Given the description of an element on the screen output the (x, y) to click on. 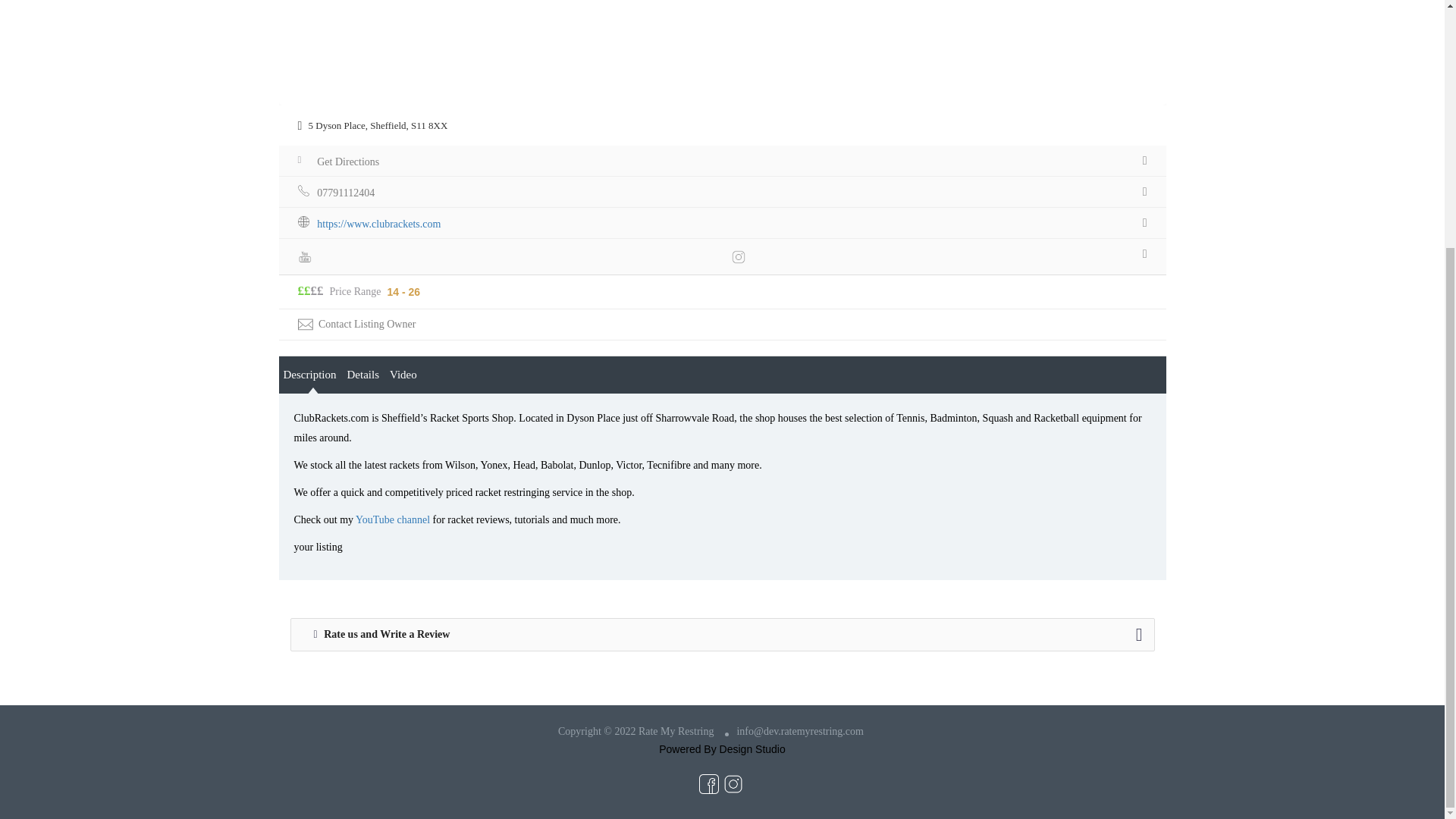
Submit (413, 156)
